Given the description of an element on the screen output the (x, y) to click on. 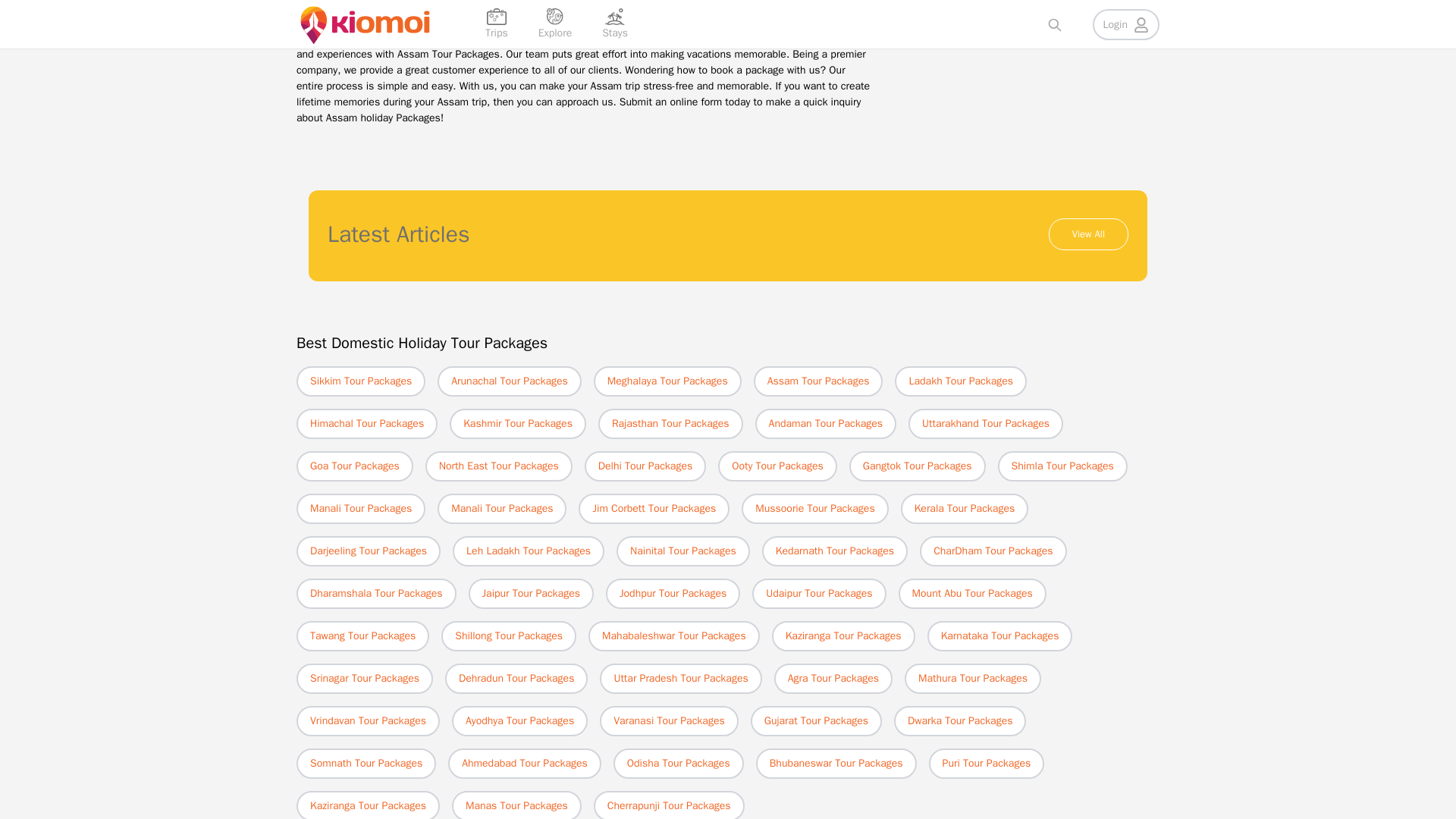
Manali Tour Packages (502, 508)
Assam Tour Packages (818, 380)
Andaman Tour Packages (825, 422)
Jim Corbett Tour Packages (653, 508)
Uttarakhand Tour Packages (985, 422)
Arunachal Tour Packages (509, 380)
View All (1088, 234)
Manali Tour Packages (361, 508)
Himachal Tour Packages (367, 422)
Kashmir Tour Packages (517, 422)
